Given the description of an element on the screen output the (x, y) to click on. 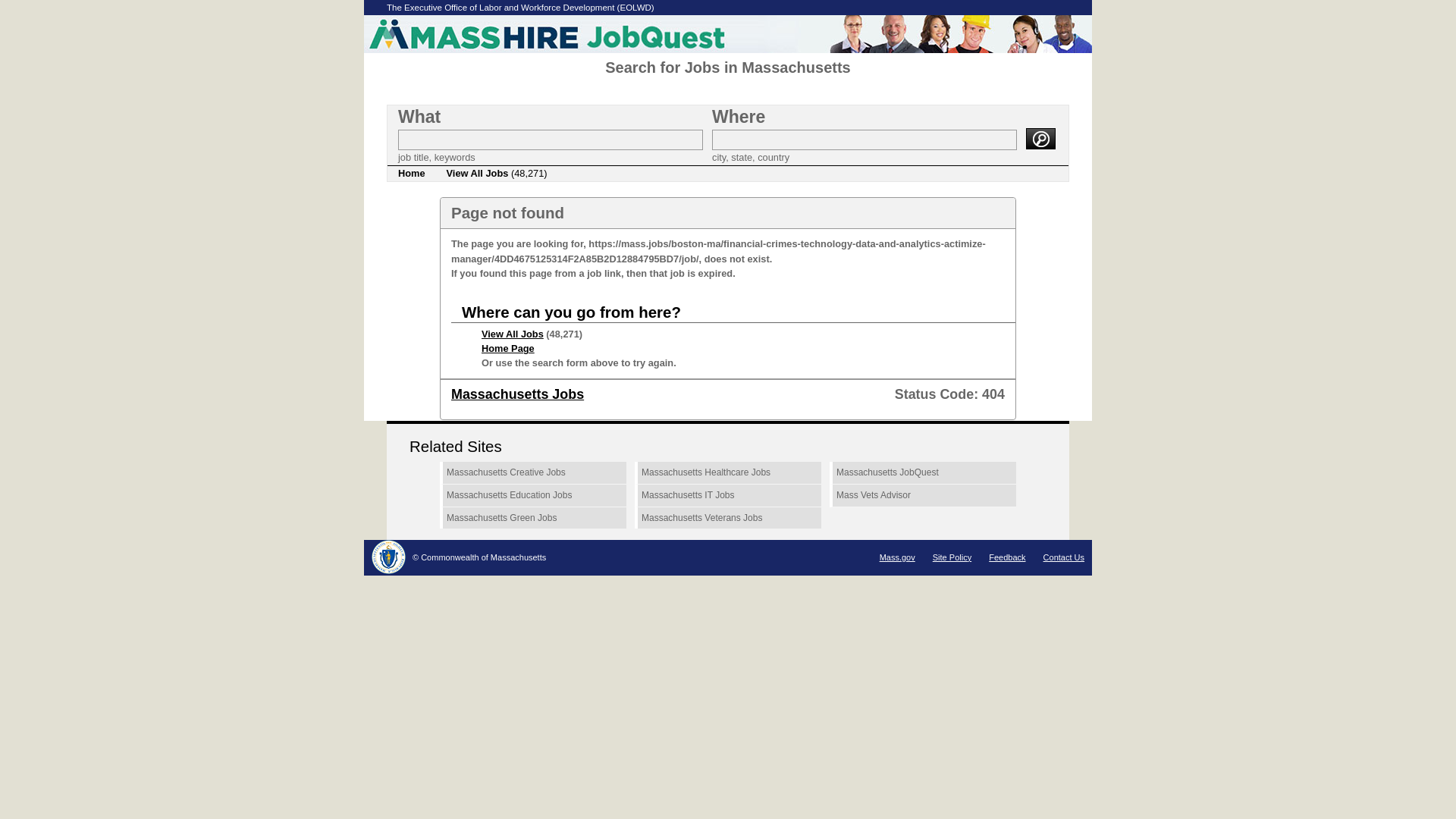
Massachusetts JobQuest (922, 472)
Massachusetts Creative Jobs (532, 472)
Massachusetts Veterans Jobs (727, 517)
Search Phrase (550, 139)
Massachusetts Jobs (517, 394)
Mass.gov (897, 556)
Site Policy (952, 556)
Submit Search (1040, 138)
Massachusetts IT Jobs (727, 495)
Massachusetts Education Jobs (532, 495)
Home Page (507, 348)
Home (411, 173)
search (1040, 138)
Contact Us (1063, 556)
